Given the description of an element on the screen output the (x, y) to click on. 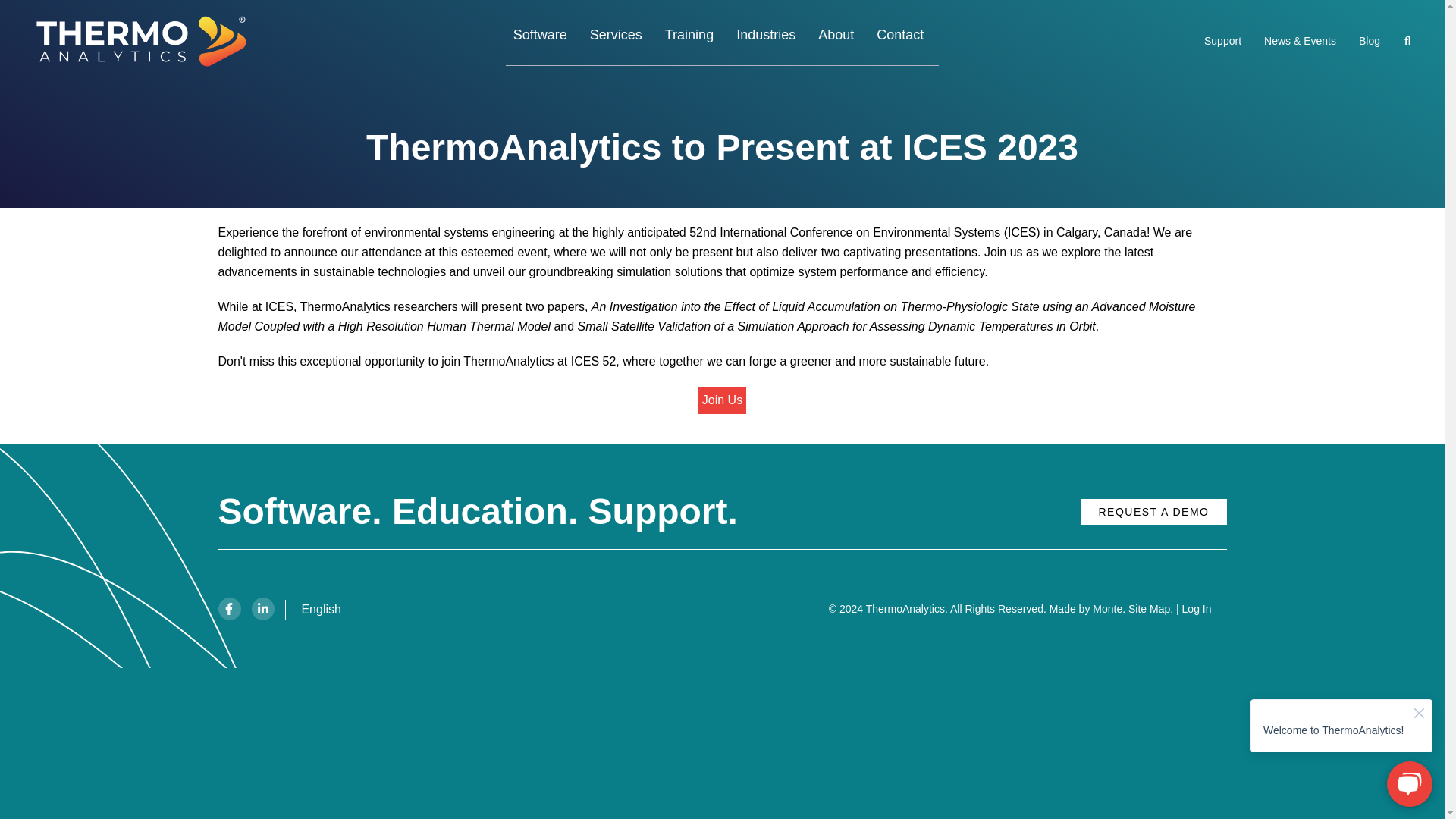
Software (540, 41)
Services (615, 41)
Home (147, 41)
